Given the description of an element on the screen output the (x, y) to click on. 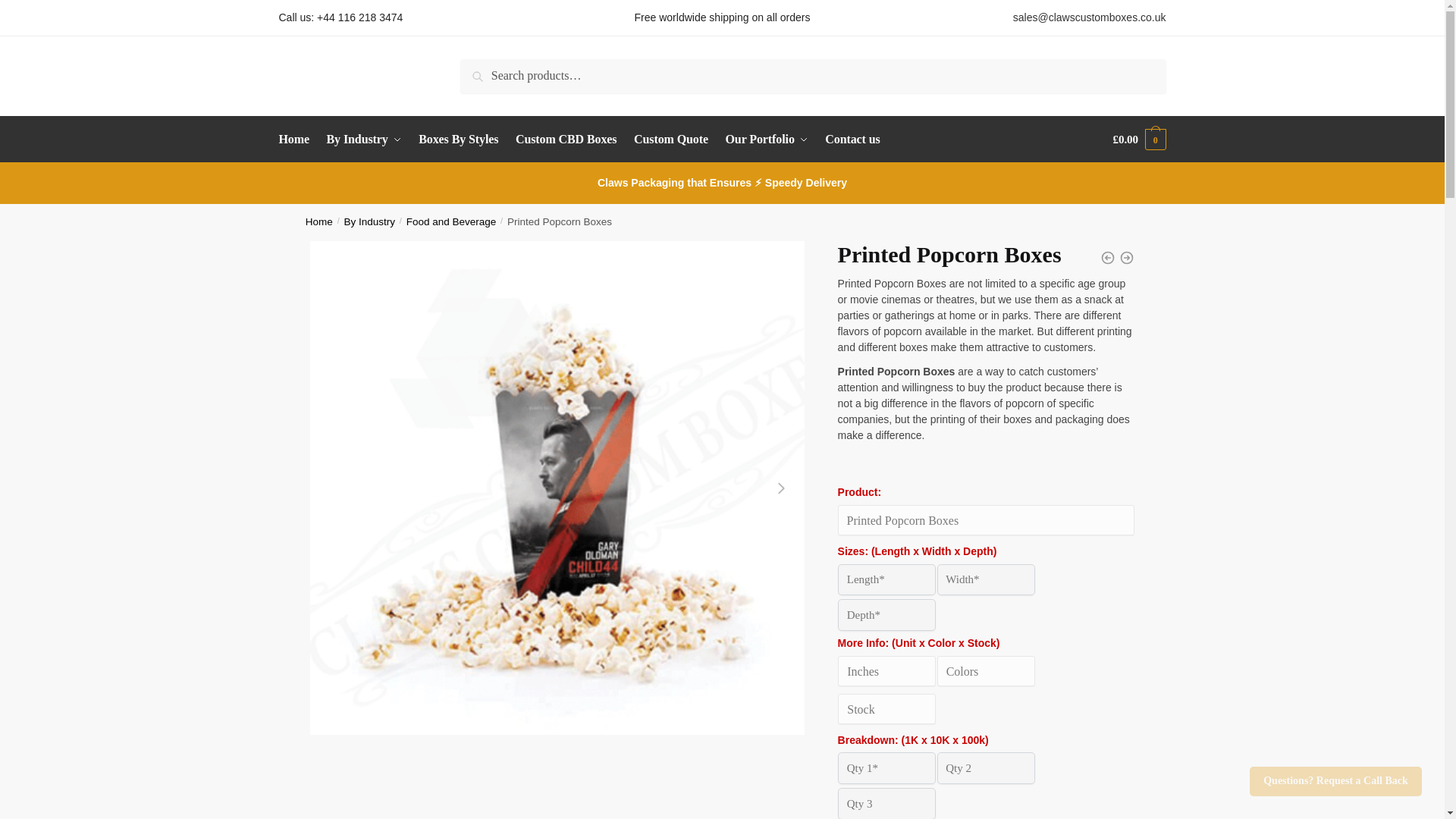
Our Portfolio (767, 139)
printed popcorn boxes wholesale (619, 776)
Boxes By Styles (458, 139)
custom printed popcorn boxes (494, 776)
Custom Quote (670, 139)
By Industry (364, 139)
custom printed popcorn boxes wholesale (746, 776)
printed popcorn box (369, 776)
Contact us (852, 139)
Custom CBD Boxes (565, 139)
